Given the description of an element on the screen output the (x, y) to click on. 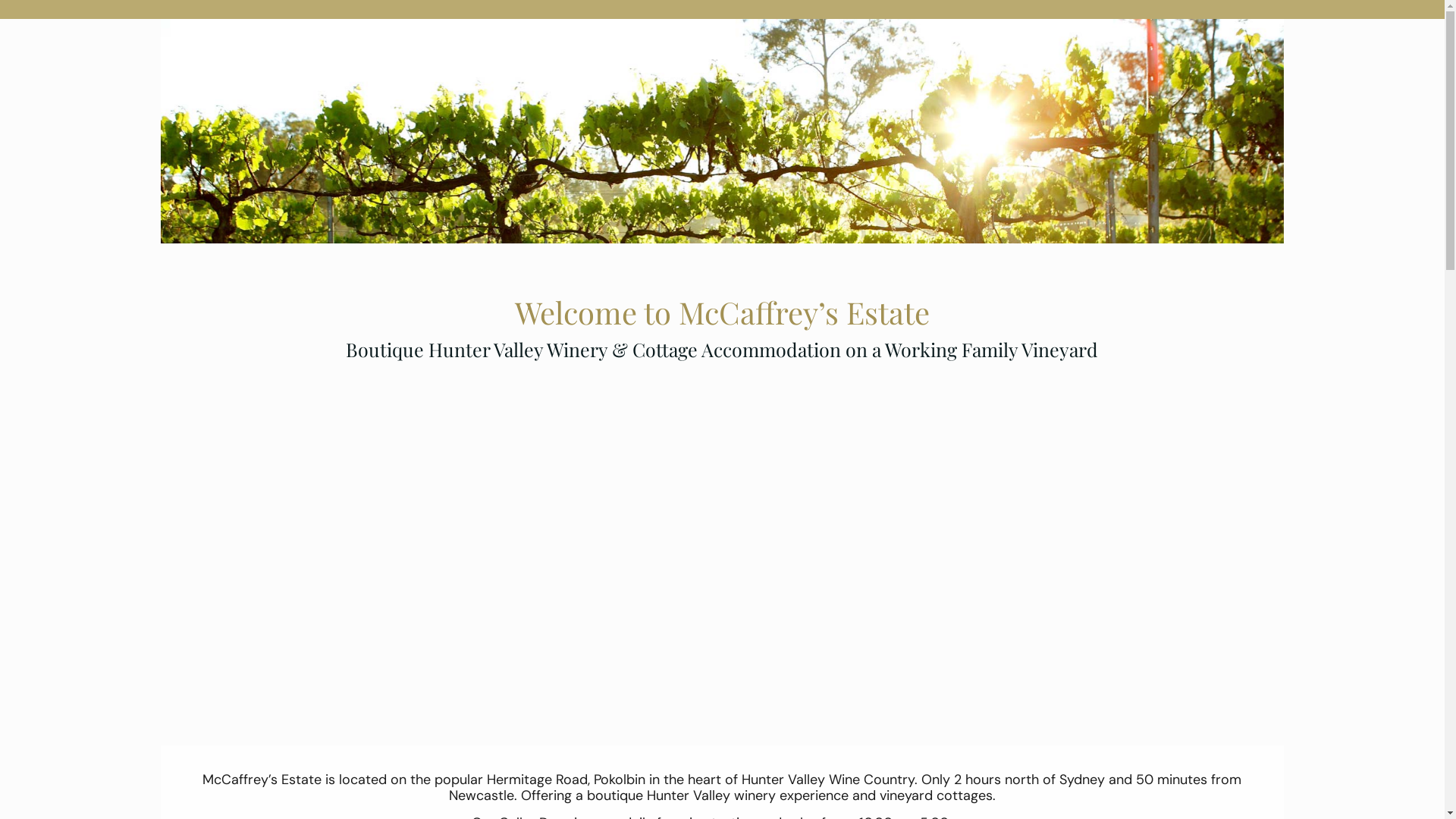
YouTube video player Element type: hover (721, 536)
